Given the description of an element on the screen output the (x, y) to click on. 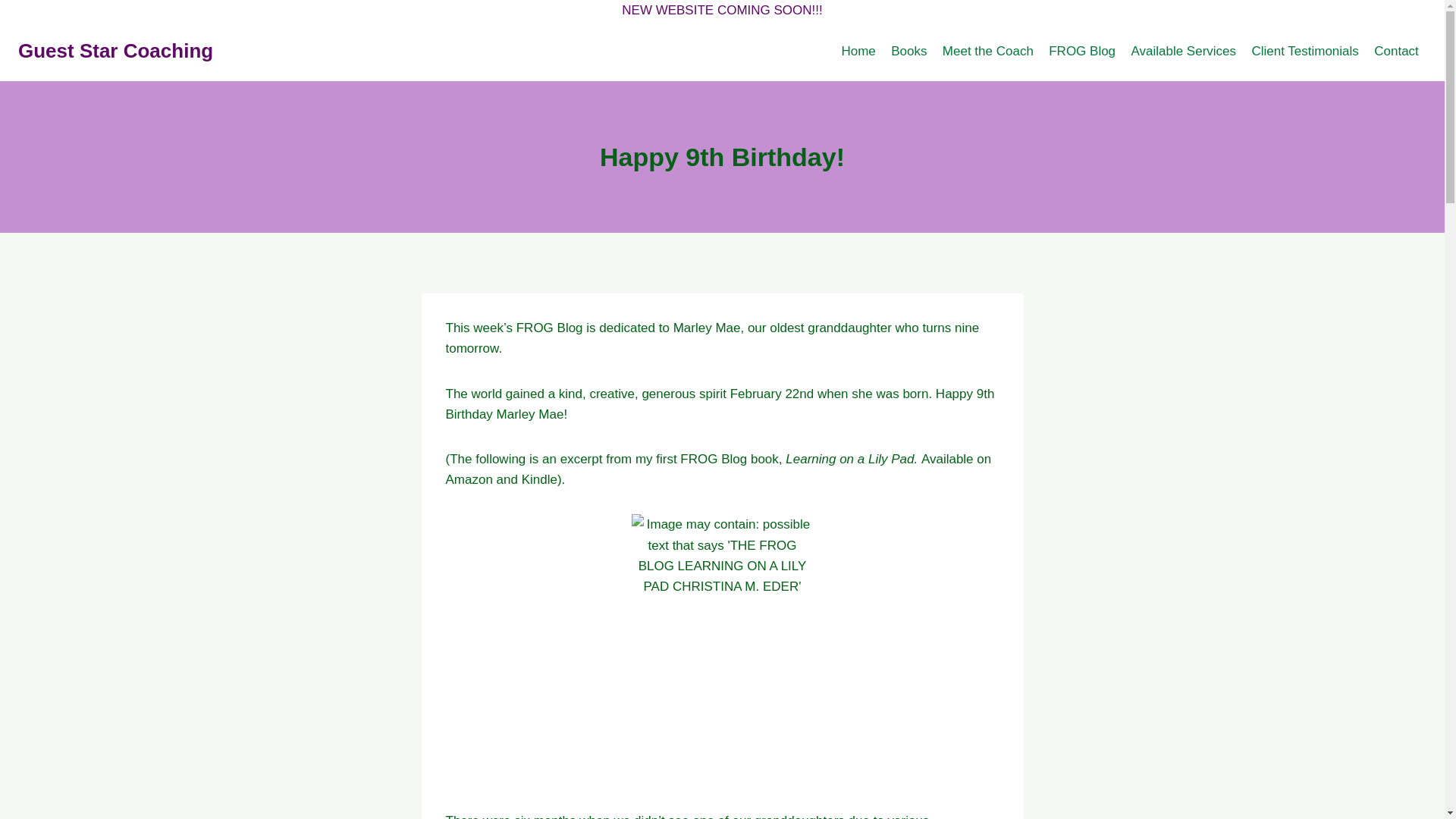
FROG Blog (1081, 50)
Contact (1396, 50)
Guest Star Coaching (114, 51)
Available Services (1182, 50)
Client Testimonials (1305, 50)
Meet the Coach (987, 50)
Home (857, 50)
Books (908, 50)
